Given the description of an element on the screen output the (x, y) to click on. 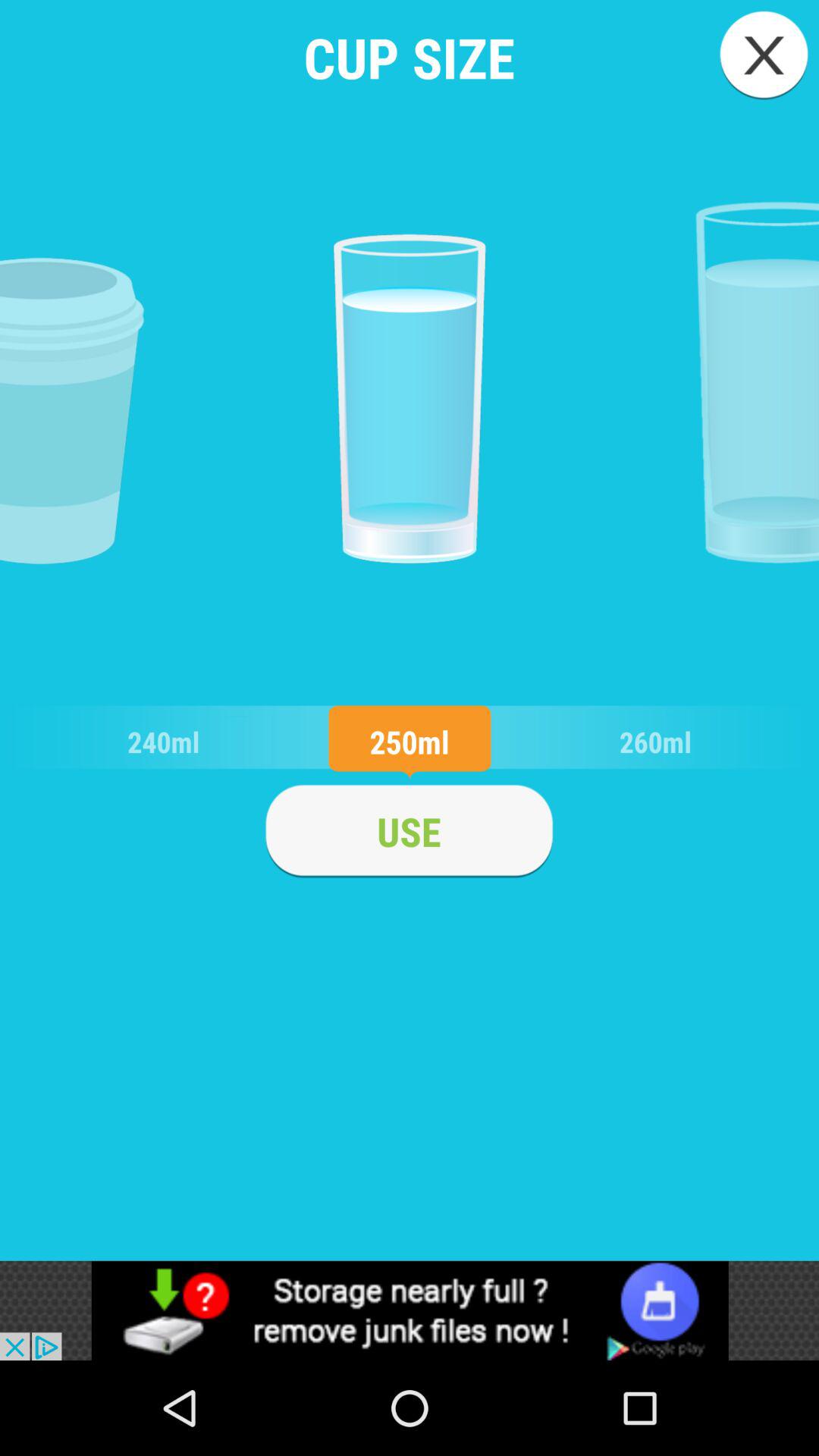
use this size cup (408, 830)
